Given the description of an element on the screen output the (x, y) to click on. 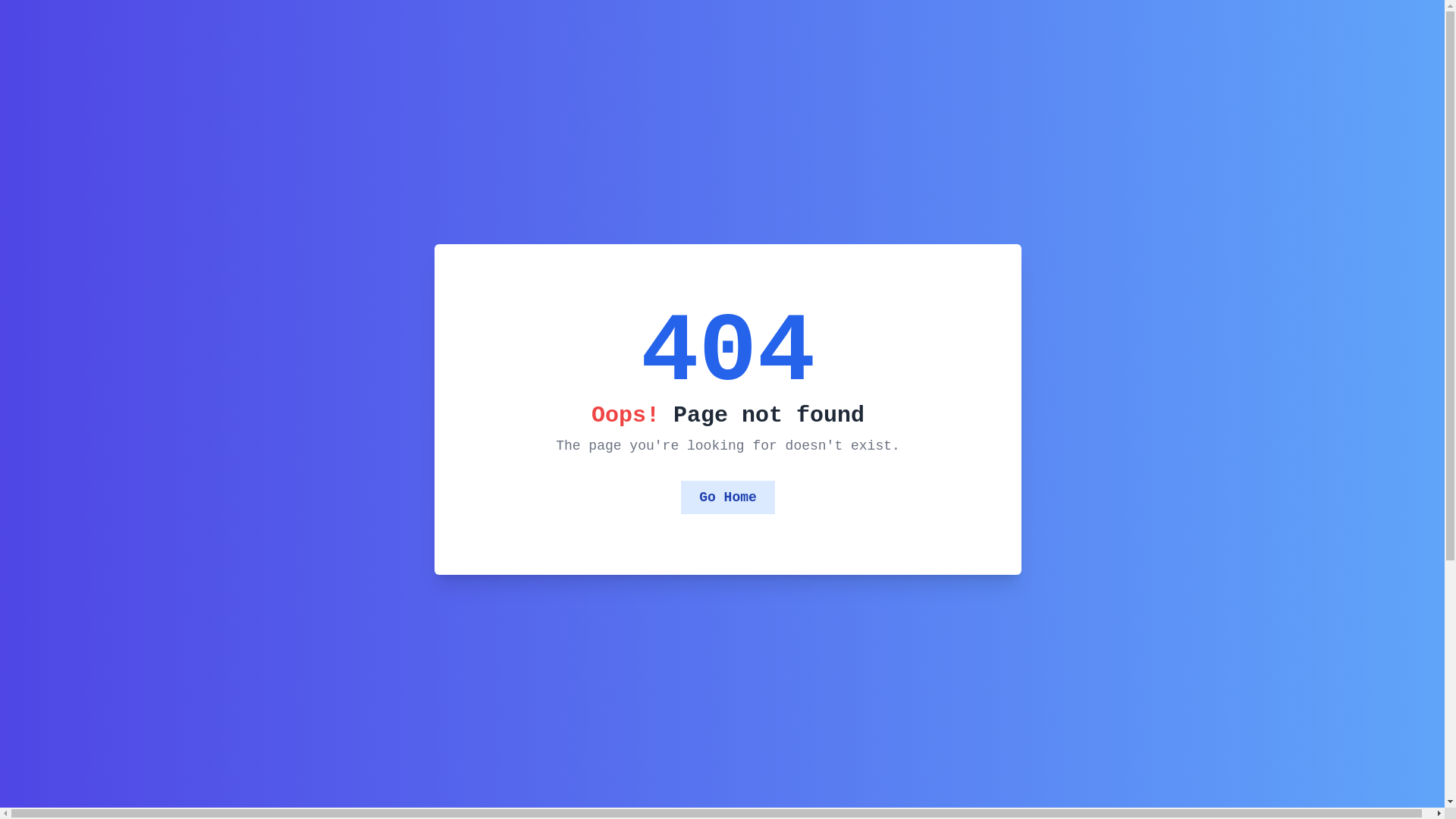
Go Home Element type: text (727, 497)
